Given the description of an element on the screen output the (x, y) to click on. 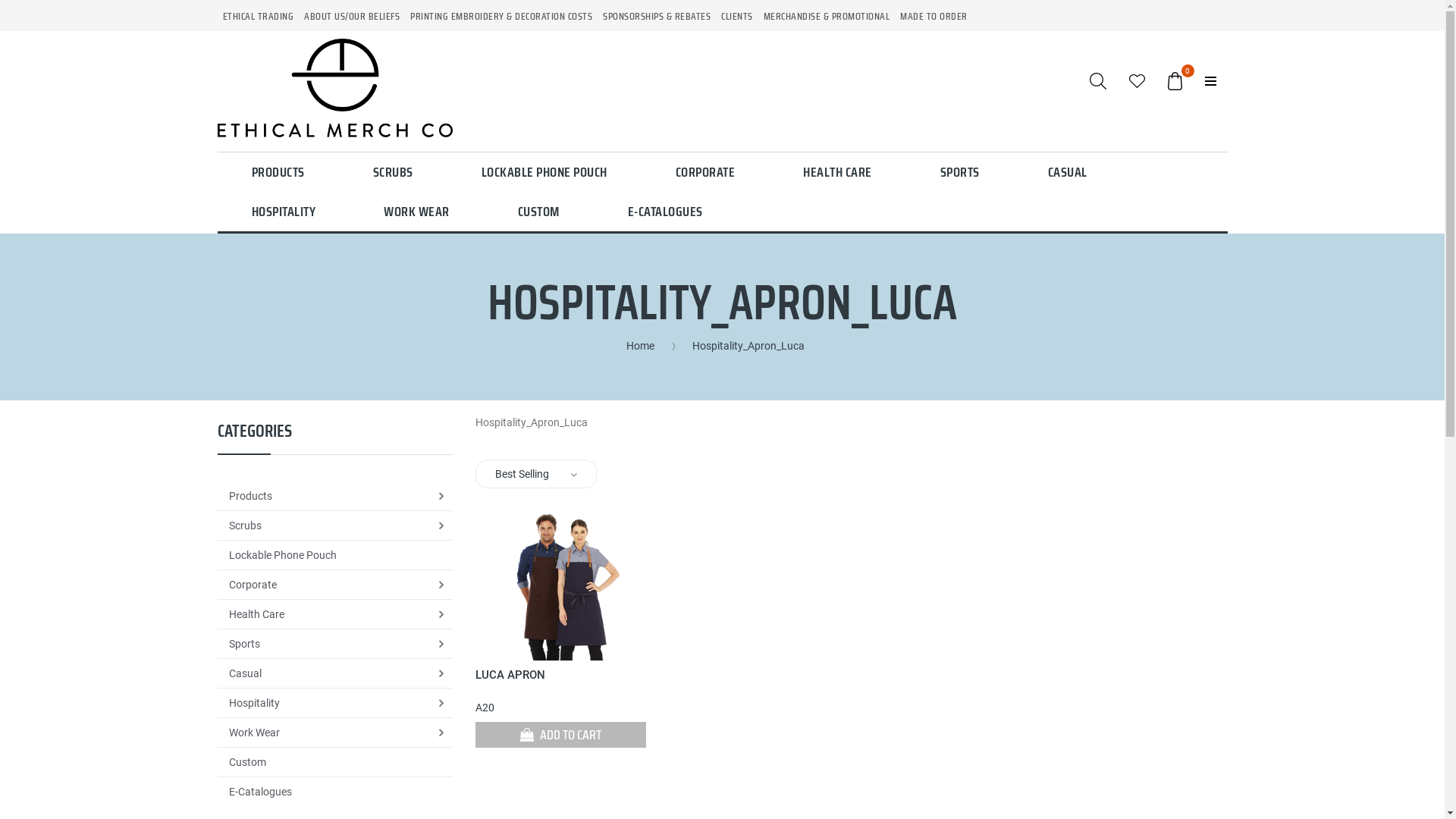
SPONSORSHIPS & REBATES Element type: text (656, 15)
Best Selling Element type: text (535, 473)
PRODUCTS Element type: text (277, 171)
CUSTOM Element type: text (538, 211)
Casual Element type: text (238, 672)
ADD TO CART Element type: text (560, 734)
Sports Element type: text (237, 643)
ABOUT US/OUR BELIEFS Element type: text (351, 15)
SCRUBS Element type: text (392, 171)
Best Selling Element type: text (522, 473)
PRINTING EMBROIDERY & DECORATION COSTS Element type: text (500, 15)
Wishlist Element type: hover (1136, 80)
Hospitality Element type: text (247, 702)
HOSPITALITY Element type: text (283, 211)
LUCA APRON Element type: text (510, 675)
CASUAL Element type: text (1066, 171)
Scrubs Element type: text (238, 525)
Products Element type: text (243, 495)
CLIENTS Element type: text (736, 15)
Custom Element type: text (240, 761)
Work Wear Element type: text (247, 732)
ETHICAL TRADING Element type: text (257, 15)
WORK WEAR Element type: text (416, 211)
MERCHANDISE & PROMOTIONAL Element type: text (826, 15)
LOCKABLE PHONE POUCH Element type: text (544, 171)
E-CATALOGUES Element type: text (664, 211)
Sign In Element type: hover (1209, 80)
Home Element type: text (647, 345)
Corporate Element type: text (246, 584)
Health Care Element type: text (249, 613)
Lockable Phone Pouch Element type: text (275, 554)
MADE TO ORDER Element type: text (933, 15)
CORPORATE Element type: text (705, 171)
E-Catalogues Element type: text (253, 791)
HEALTH CARE Element type: text (837, 171)
SPORTS Element type: text (959, 171)
